Given the description of an element on the screen output the (x, y) to click on. 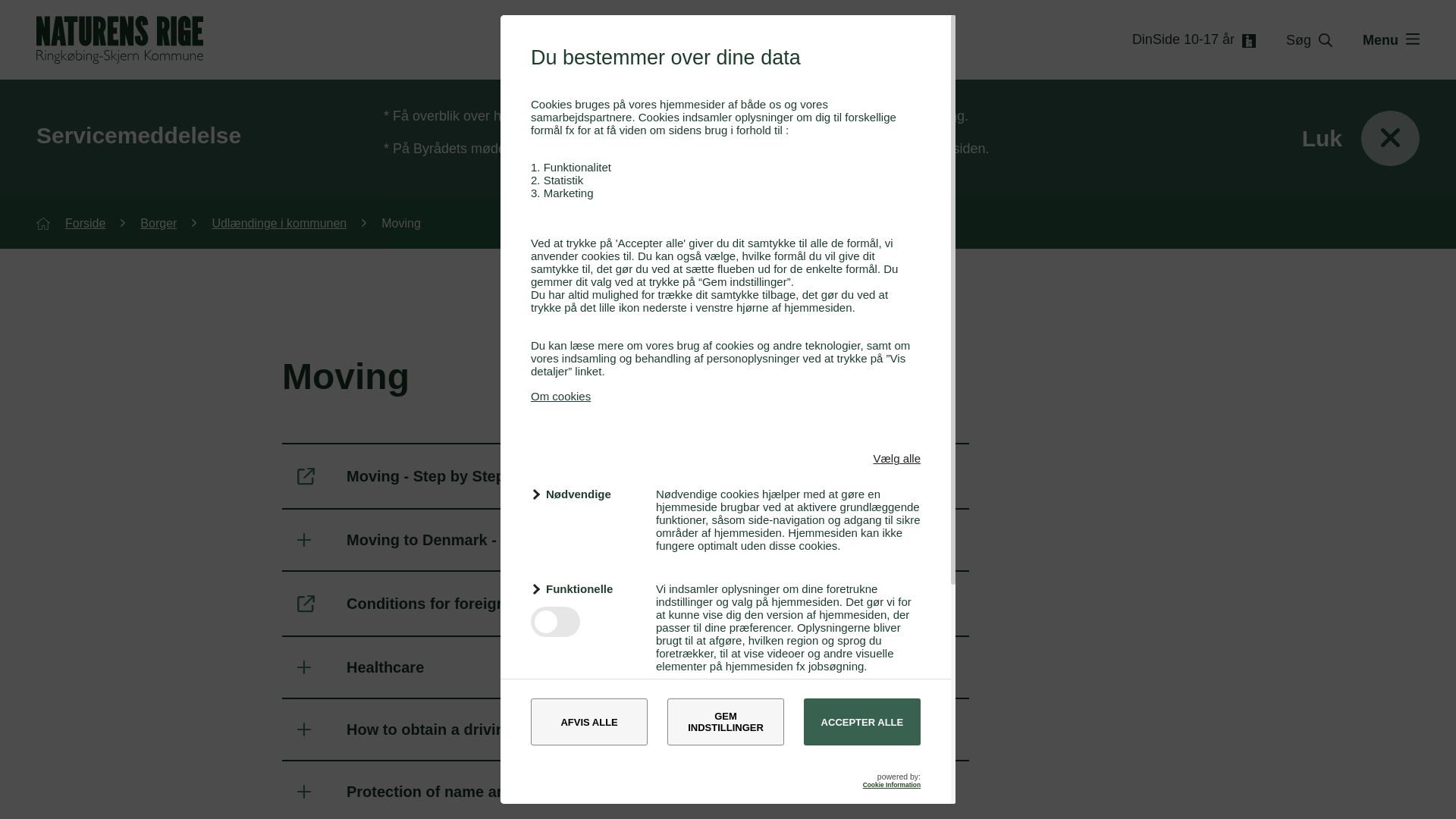
GEM INDSTILLINGER (725, 721)
Cookie Information (891, 784)
ACCEPTER ALLE (861, 721)
Om cookies (561, 395)
Statistiske (584, 709)
Funktionelle (584, 588)
AFVIS ALLE (589, 721)
